Given the description of an element on the screen output the (x, y) to click on. 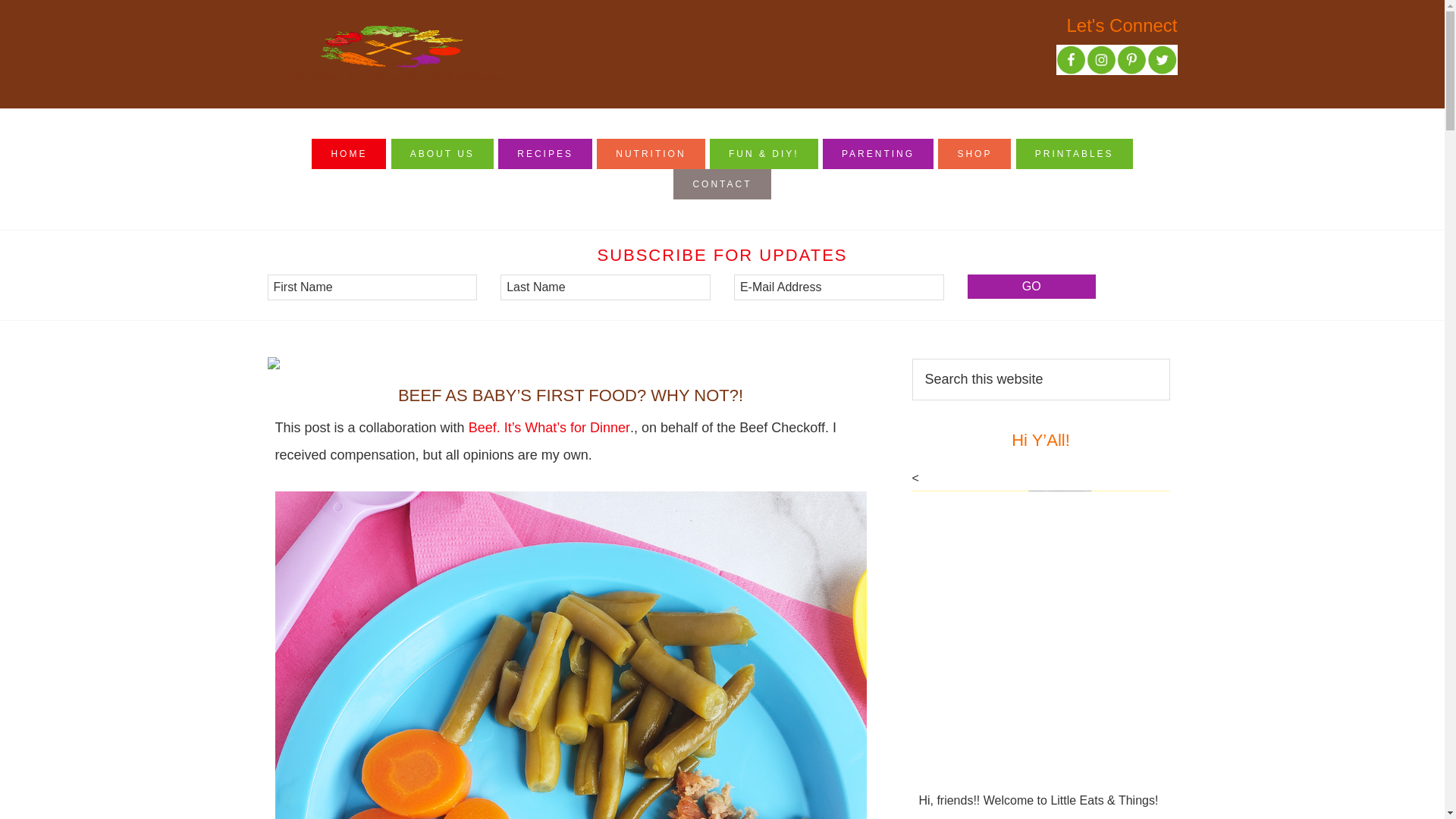
PARENTING (877, 153)
ABOUT US (442, 153)
SHOP (973, 153)
PRINTABLES (1074, 153)
RECIPES (544, 153)
Go (1032, 286)
HOME (348, 153)
